Given the description of an element on the screen output the (x, y) to click on. 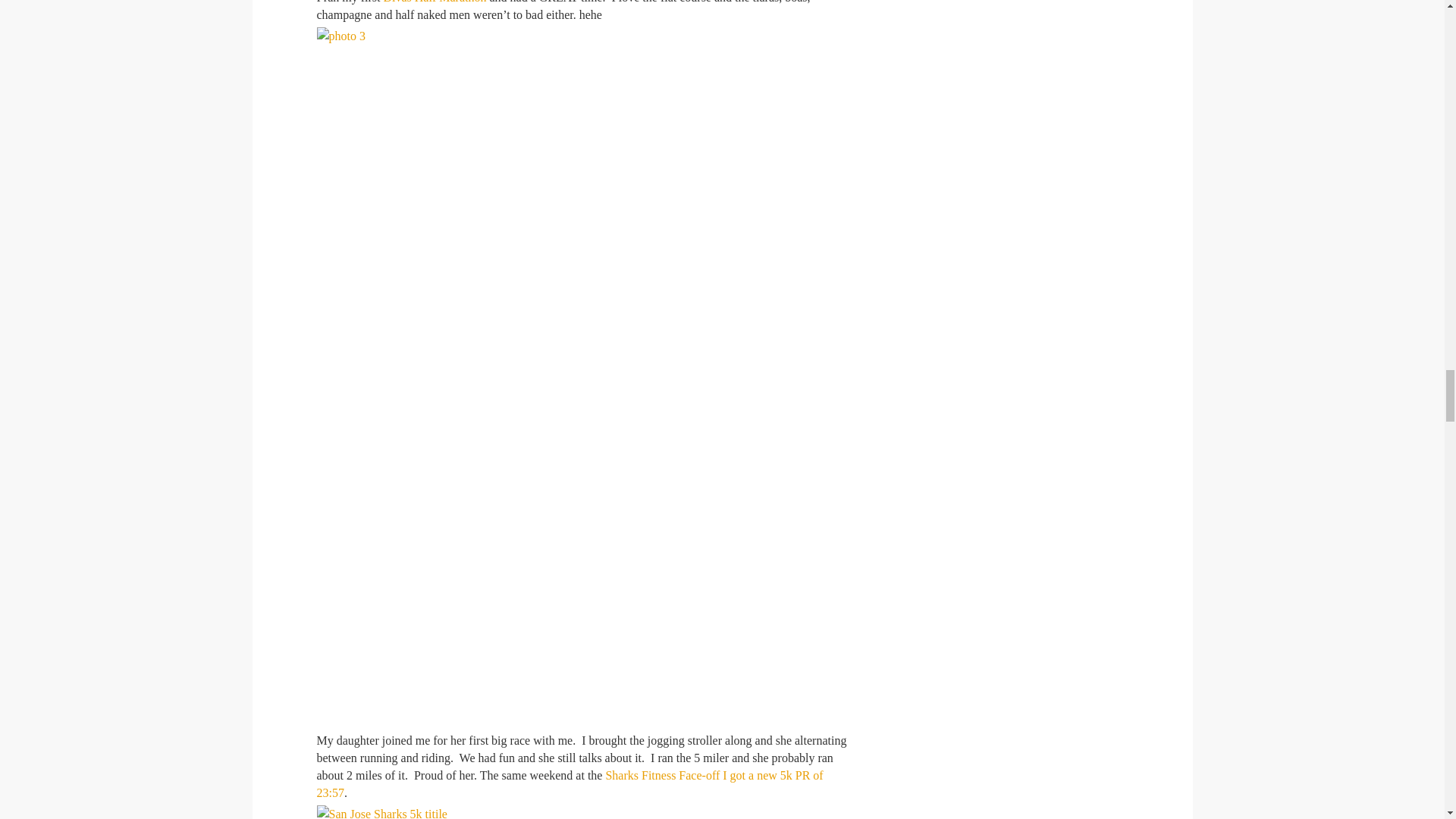
Divas Half Marathon (434, 2)
Sharks Fitness Face-off I got a new 5k PR of 23:57 (570, 784)
